Given the description of an element on the screen output the (x, y) to click on. 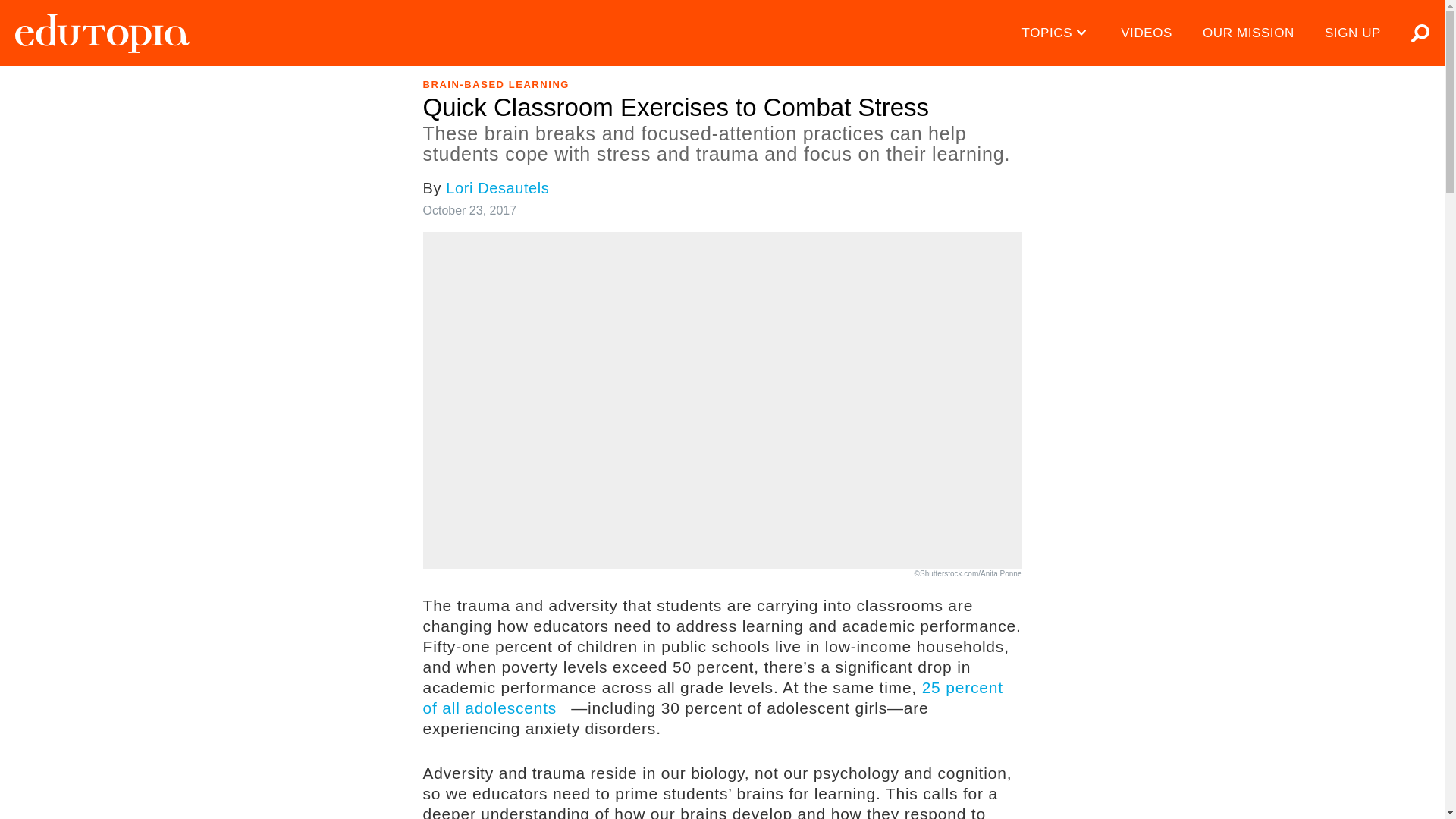
VIDEOS (1146, 33)
SIGN UP (1352, 33)
Edutopia (101, 33)
TOPICS (1056, 33)
25 percent of all adolescents (713, 697)
OUR MISSION (1248, 33)
Edutopia (101, 33)
Lori Desautels (496, 187)
